Given the description of an element on the screen output the (x, y) to click on. 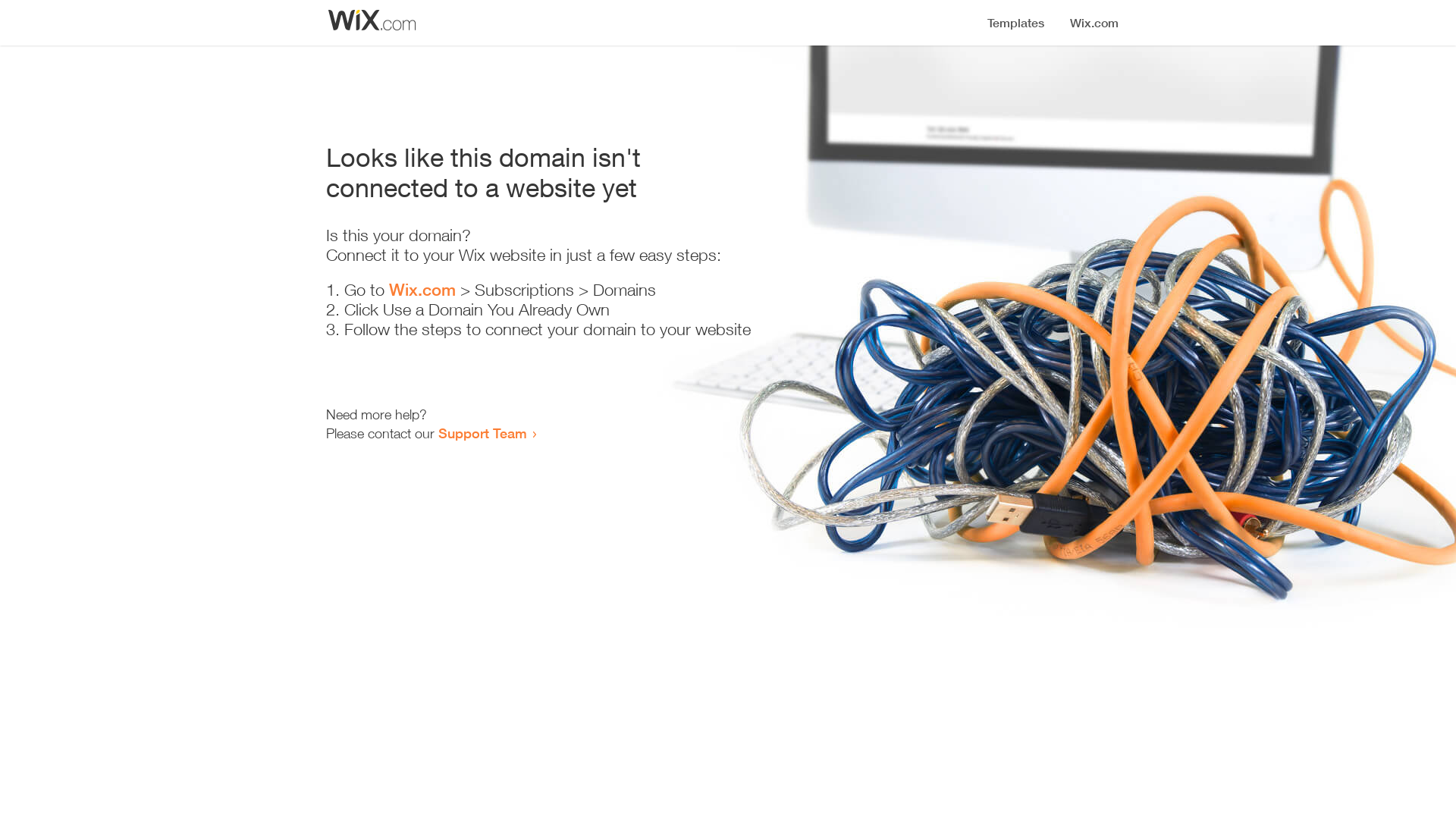
Wix.com Element type: text (422, 289)
Support Team Element type: text (482, 432)
